Given the description of an element on the screen output the (x, y) to click on. 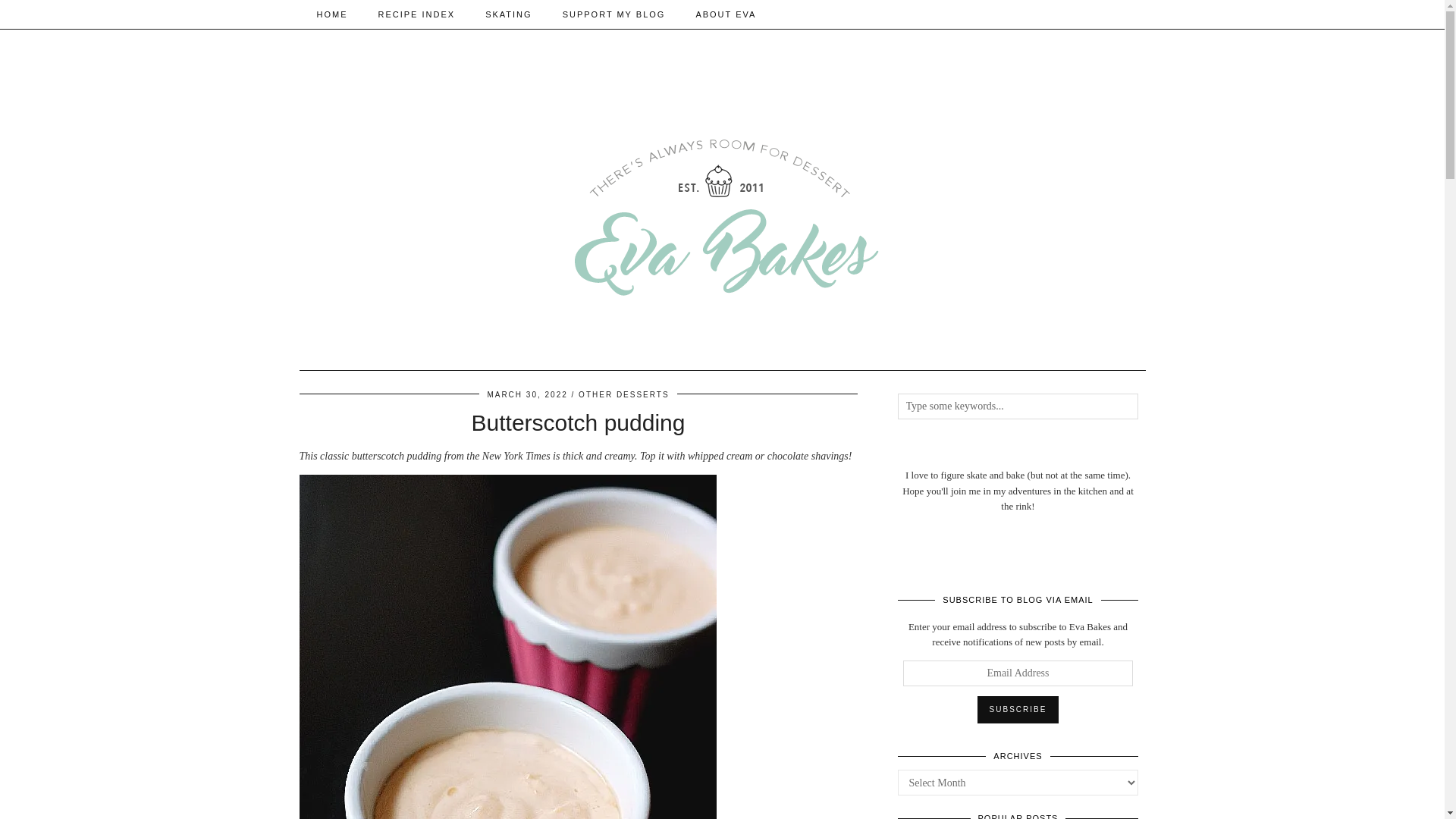
ABOUT EVA (725, 14)
SKATING (508, 14)
SUPPORT MY BLOG (614, 14)
HOME (331, 14)
RECIPE INDEX (416, 14)
